Given the description of an element on the screen output the (x, y) to click on. 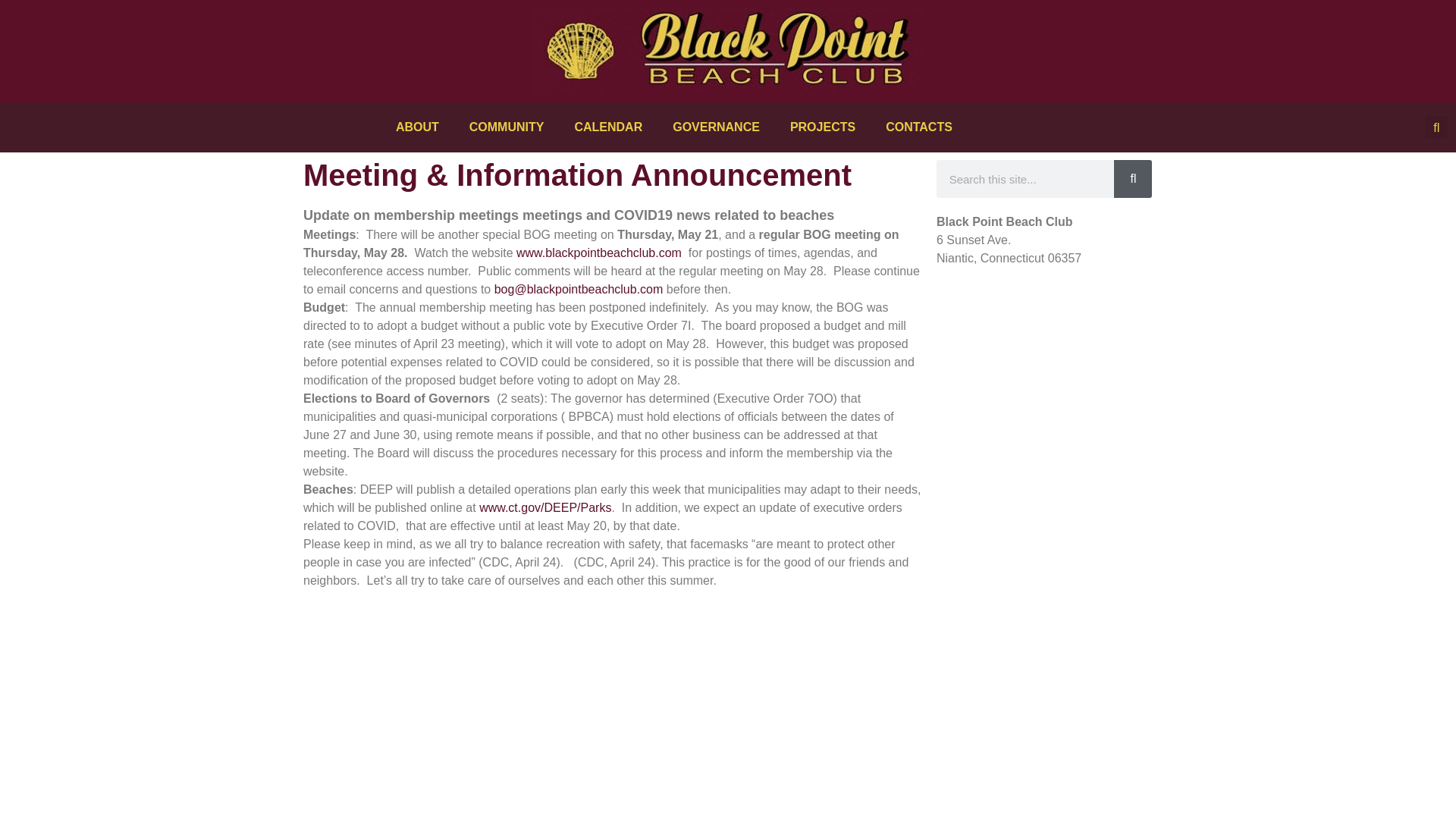
GOVERNANCE (716, 126)
CONTACTS (919, 126)
PROJECTS (822, 126)
COMMUNITY (506, 126)
ABOUT (417, 126)
CALENDAR (608, 126)
